Given the description of an element on the screen output the (x, y) to click on. 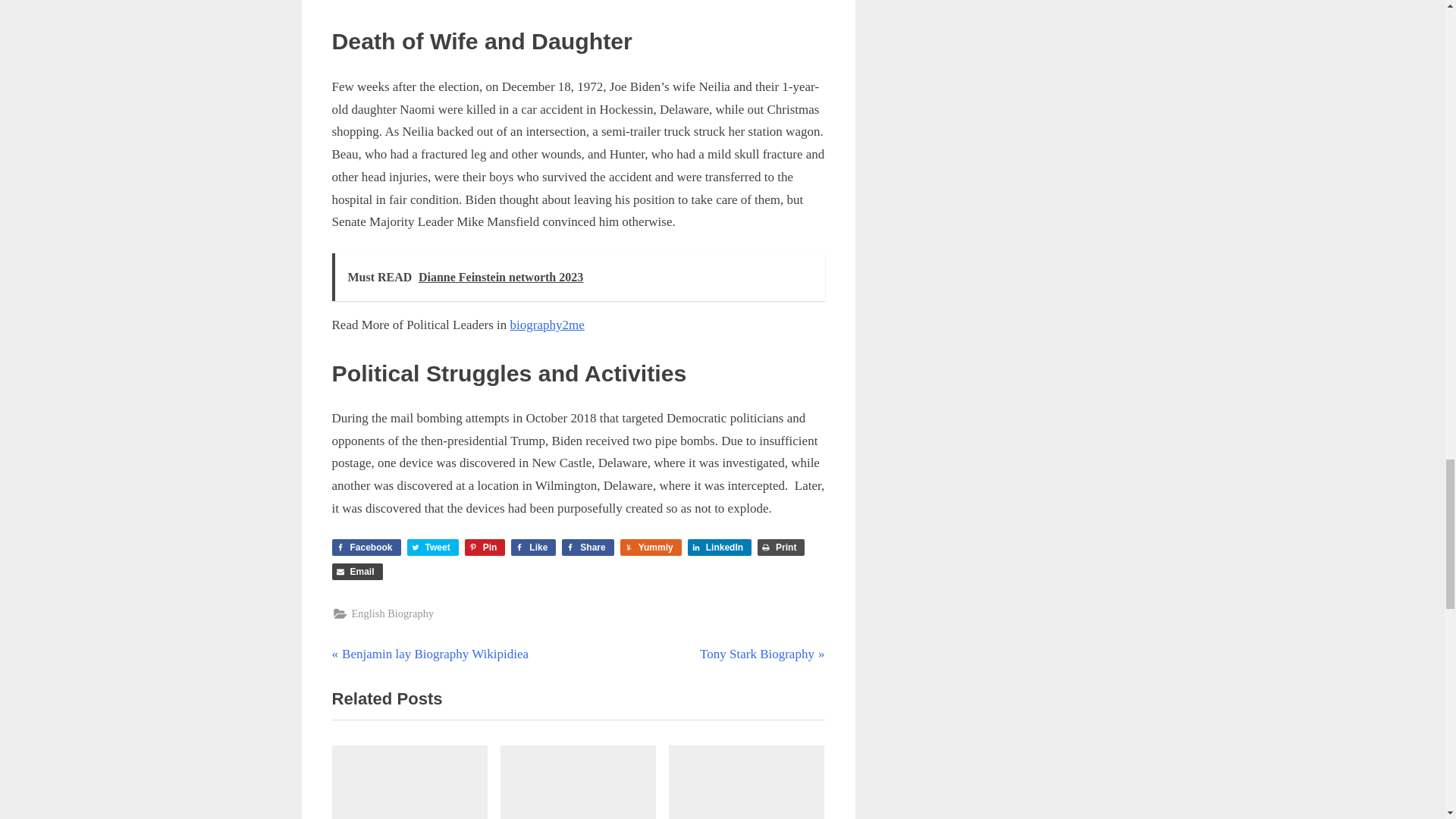
Email (356, 571)
